Given the description of an element on the screen output the (x, y) to click on. 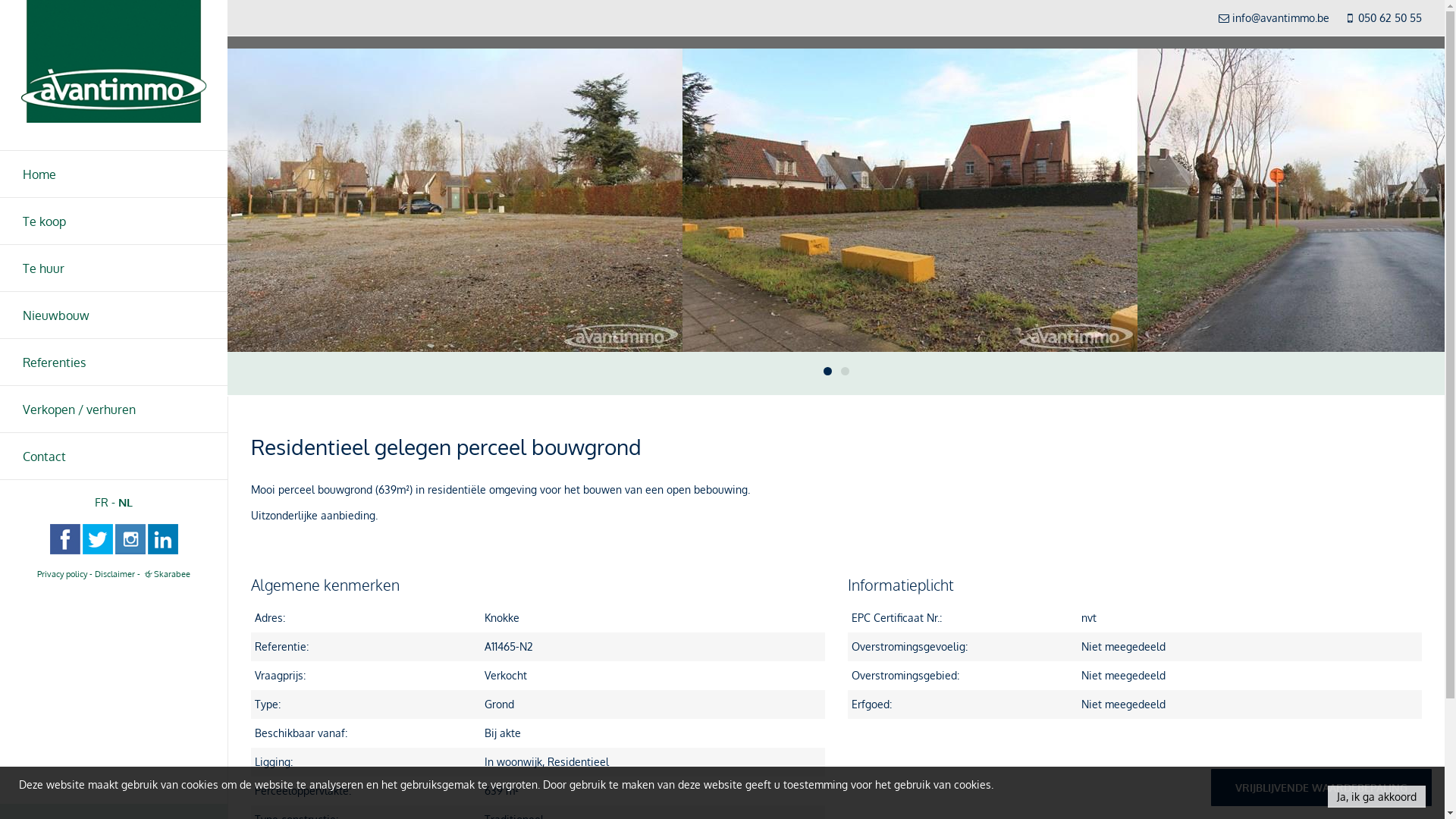
info@avantimmo.be Element type: text (1280, 17)
Privacy policy Element type: text (62, 573)
Te huur Element type: text (113, 267)
2 Element type: text (844, 371)
VRIJBLIJVENDE WAARDEBEPALING Element type: text (1321, 787)
Verkopen / verhuren Element type: text (113, 408)
050 62 50 55 Element type: text (1389, 17)
Referenties Element type: text (113, 361)
Te koop Element type: text (113, 220)
Nieuwbouw Element type: text (113, 314)
 Skarabee Element type: text (165, 573)
Home Element type: text (113, 173)
Disclaimer Element type: text (114, 573)
Contact Element type: text (113, 456)
1 Element type: text (827, 371)
FR Element type: text (101, 501)
